Given the description of an element on the screen output the (x, y) to click on. 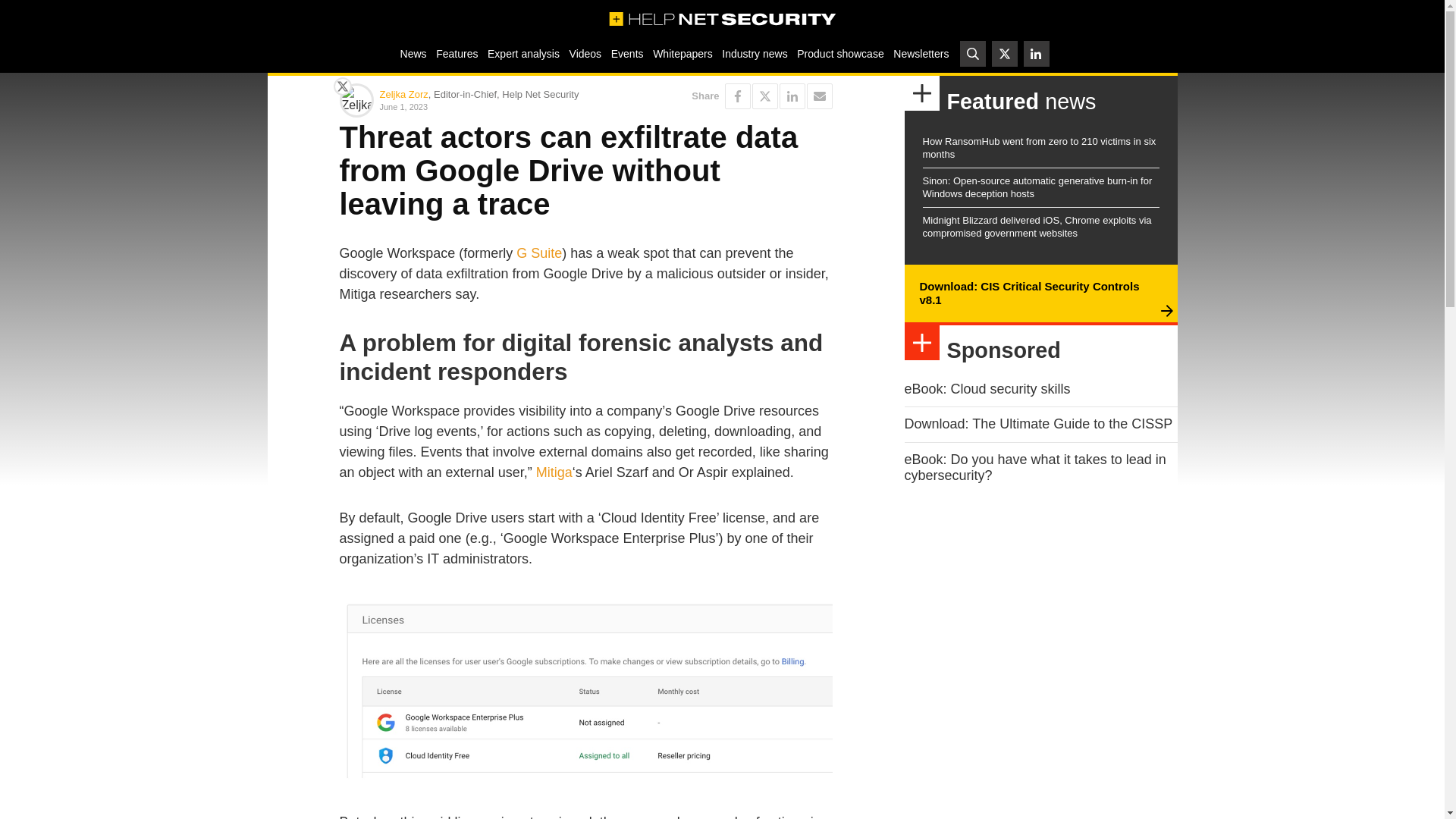
Industry news (754, 53)
Mitiga (553, 472)
News (412, 53)
Newsletters (920, 53)
Videos (584, 53)
Zeljka Zorz (403, 93)
Whitepapers (682, 53)
